Given the description of an element on the screen output the (x, y) to click on. 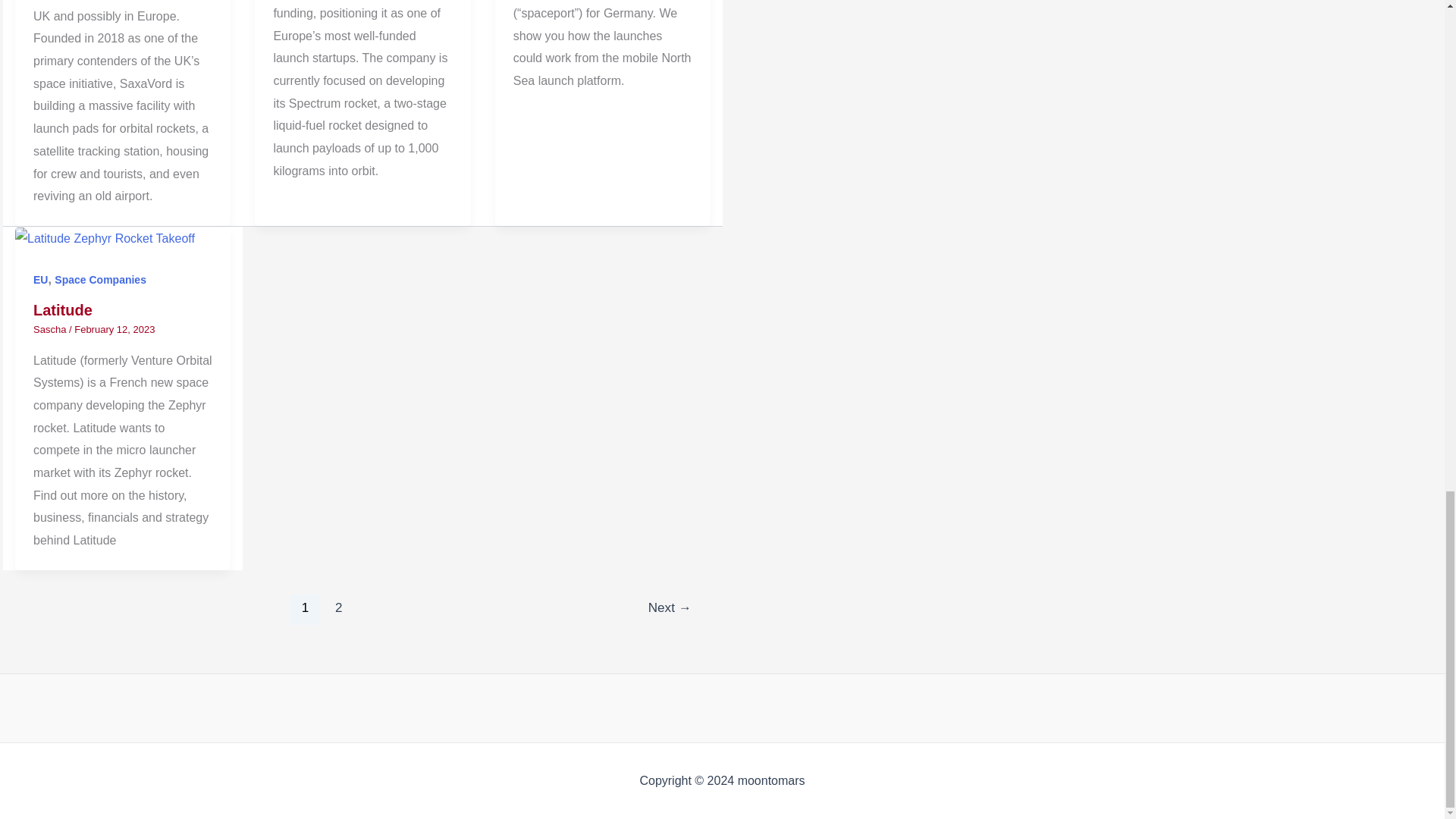
View all posts by Sascha (50, 328)
